Given the description of an element on the screen output the (x, y) to click on. 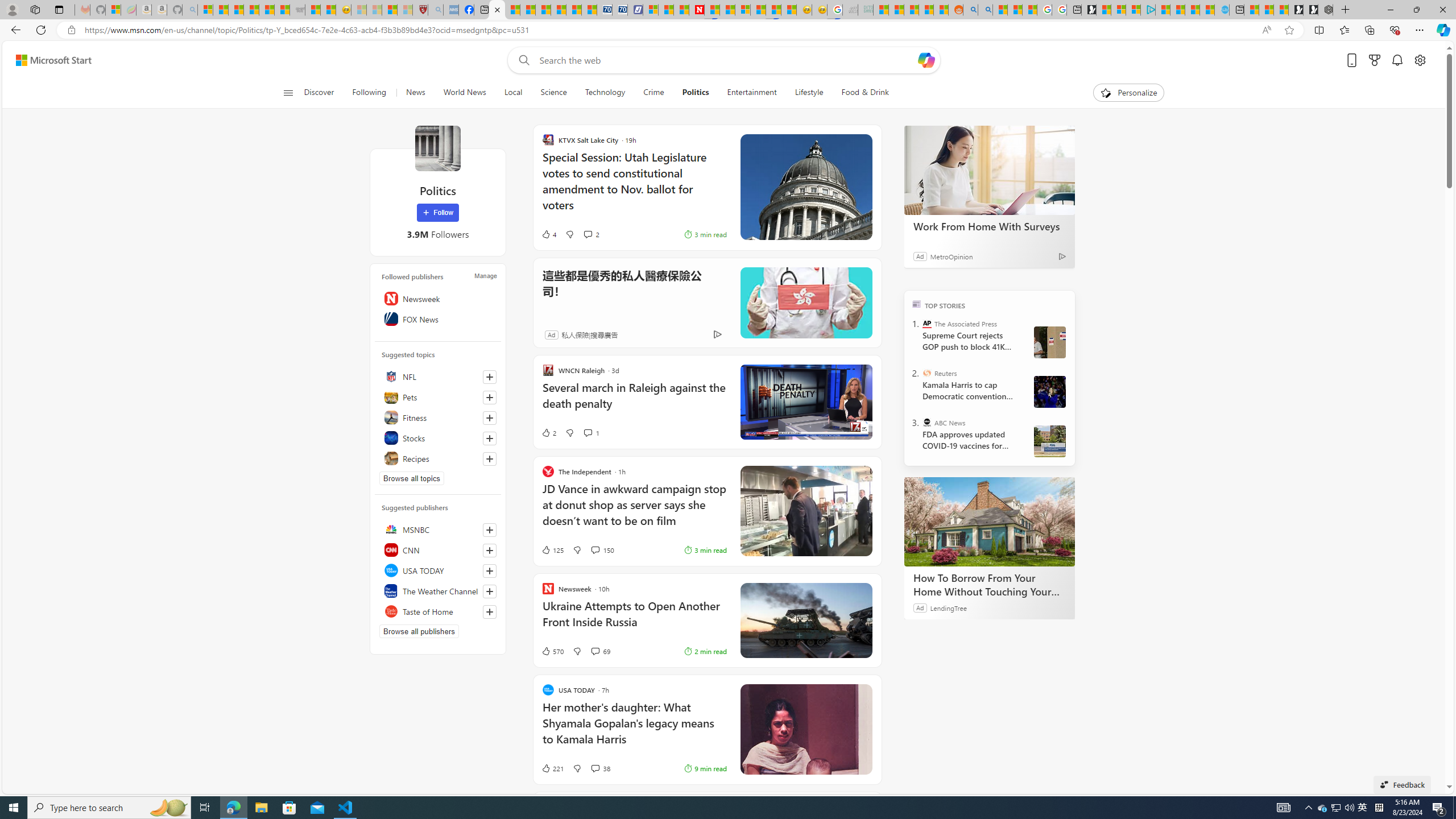
Browse all publishers (419, 631)
Fitness (437, 417)
View comments 2 Comment (591, 233)
